Given the description of an element on the screen output the (x, y) to click on. 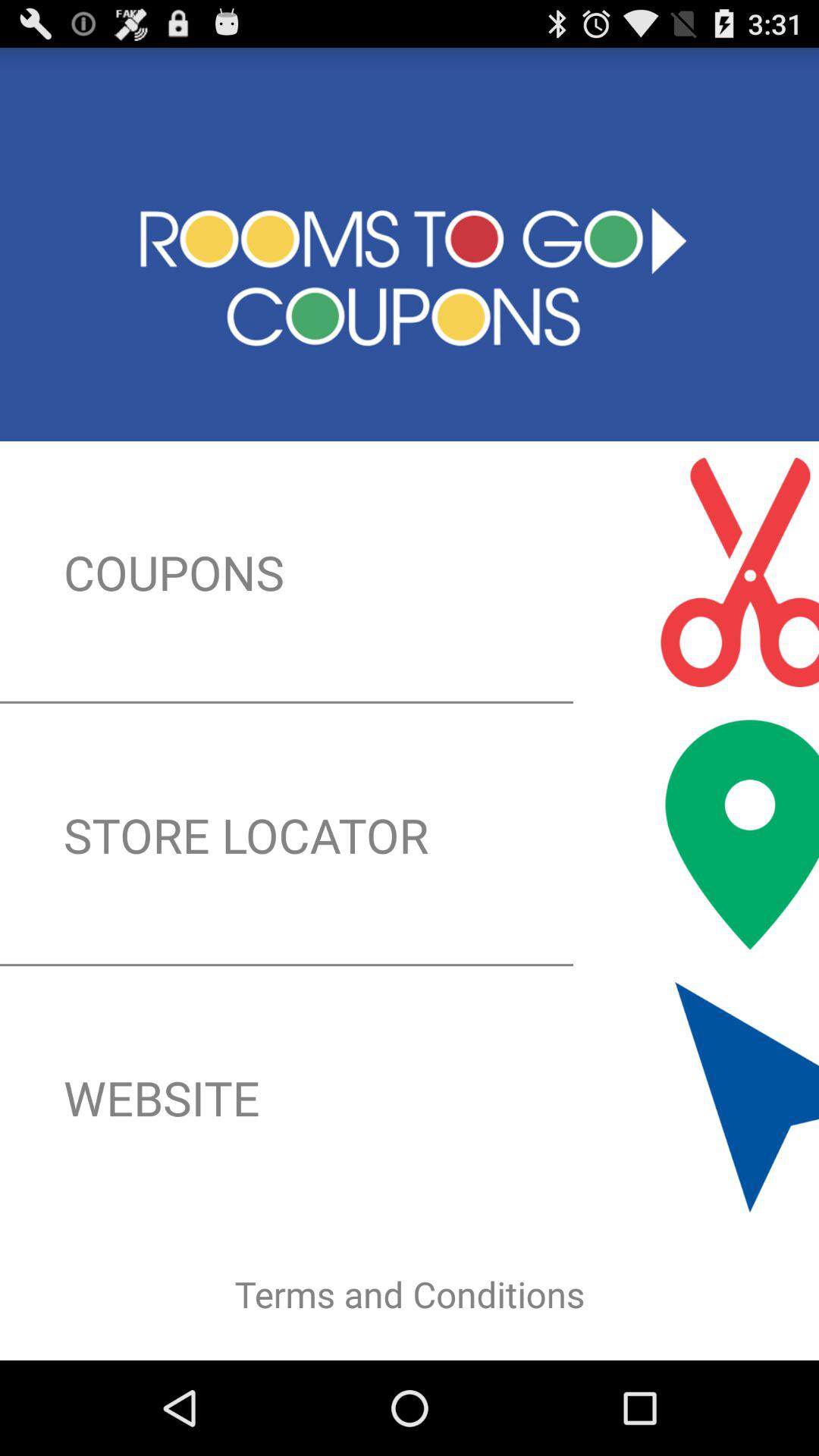
click the terms and conditions (409, 1294)
